Given the description of an element on the screen output the (x, y) to click on. 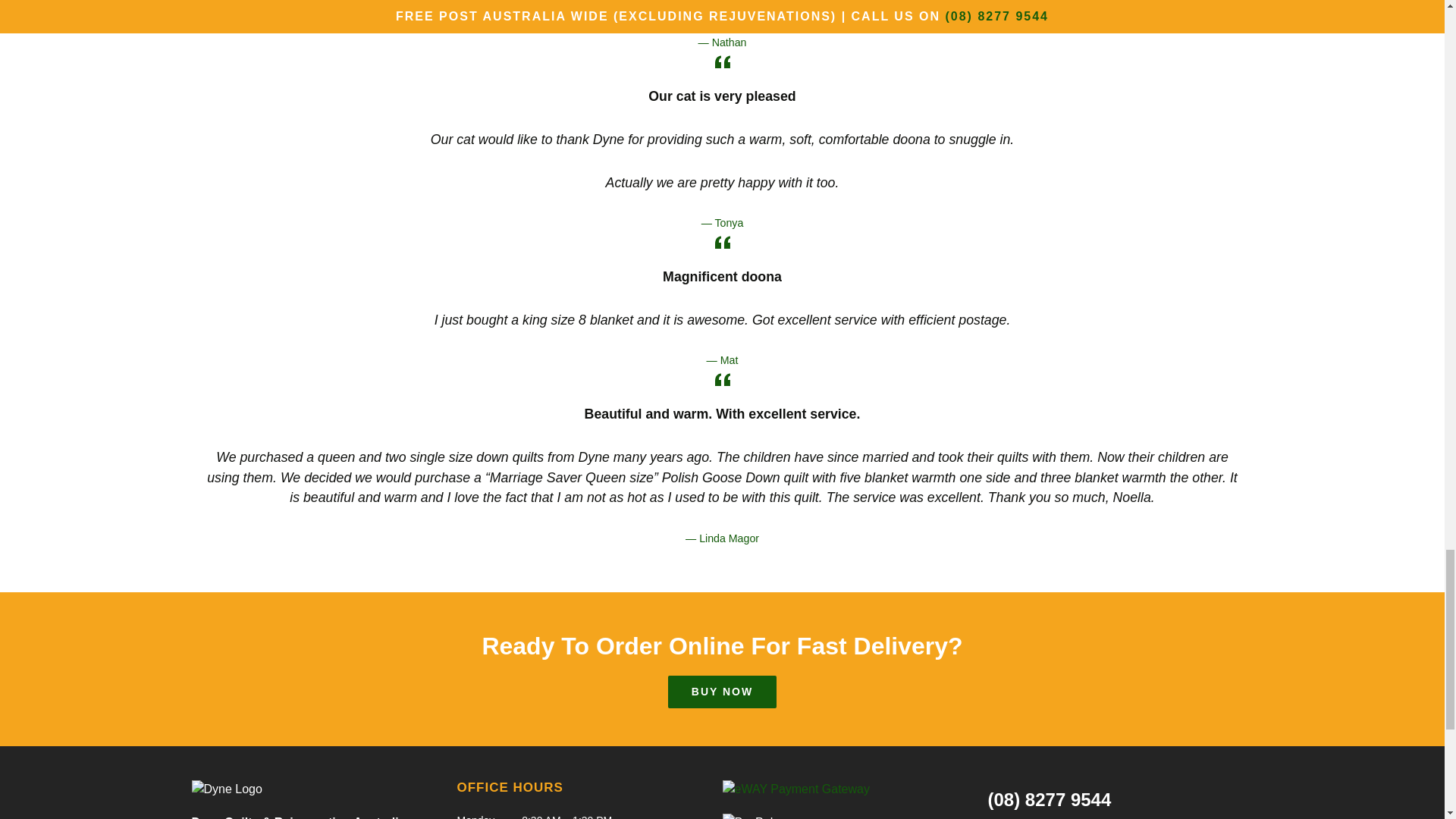
eWAY Payment Gateway (795, 788)
